Given the description of an element on the screen output the (x, y) to click on. 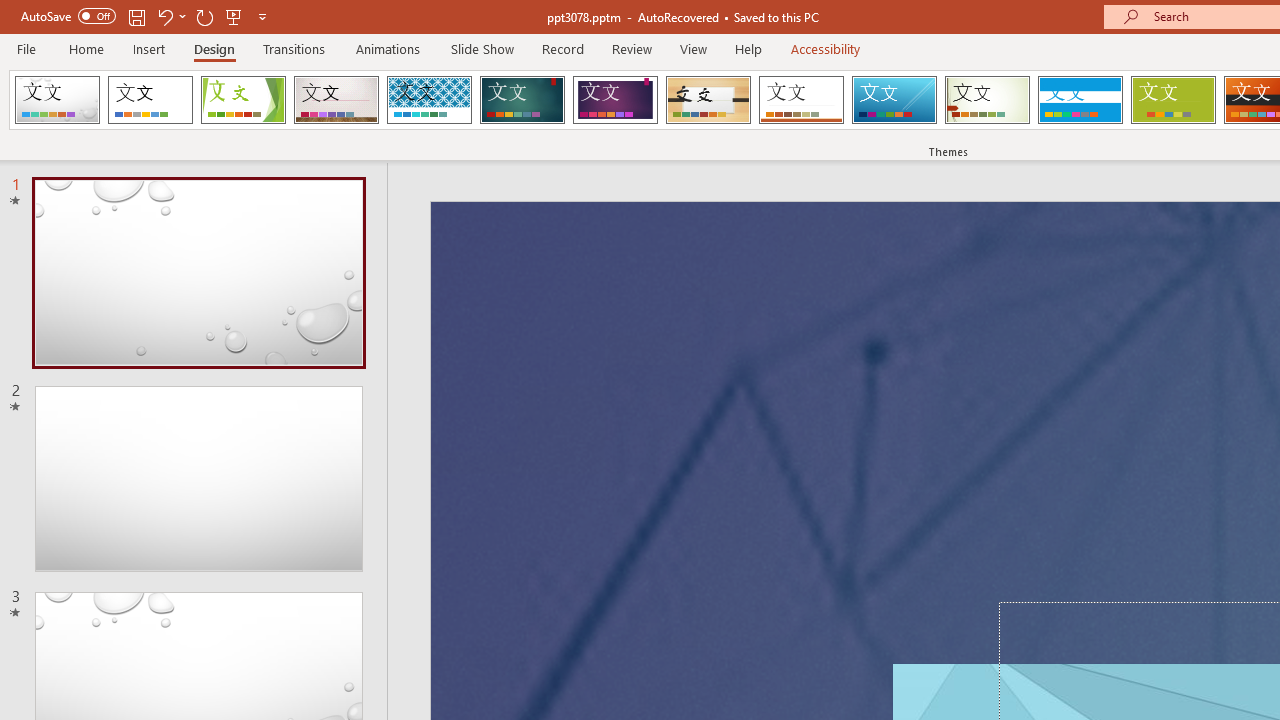
Retrospect (801, 100)
Banded (1080, 100)
Ion (522, 100)
Basis (1172, 100)
